Given the description of an element on the screen output the (x, y) to click on. 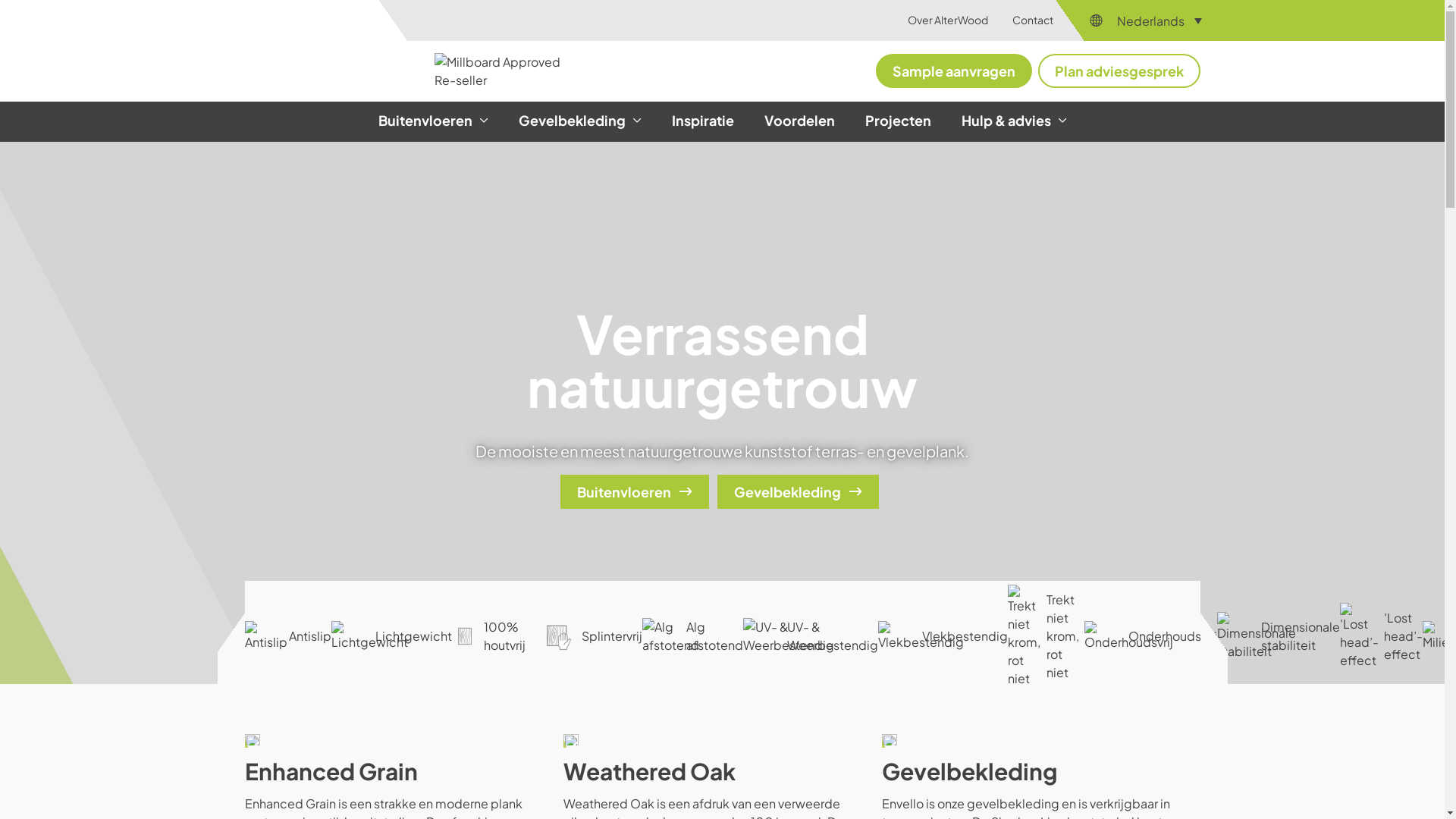
Alterwood BE Element type: text (317, 53)
Sample aanvragen Element type: text (953, 70)
Buitenvloeren Element type: text (633, 491)
Contact Element type: text (1032, 19)
Plan adviesgesprek Element type: text (1118, 70)
Projecten Element type: text (897, 121)
Over AlterWood Element type: text (947, 19)
Nederlands Element type: text (1162, 20)
Hulp & advies Element type: text (1014, 121)
Voordelen Element type: text (799, 121)
Buitenvloeren Element type: text (432, 121)
Inspiratie Element type: text (702, 121)
Gevelbekleding Element type: text (797, 491)
Gevelbekleding Element type: text (579, 121)
